Given the description of an element on the screen output the (x, y) to click on. 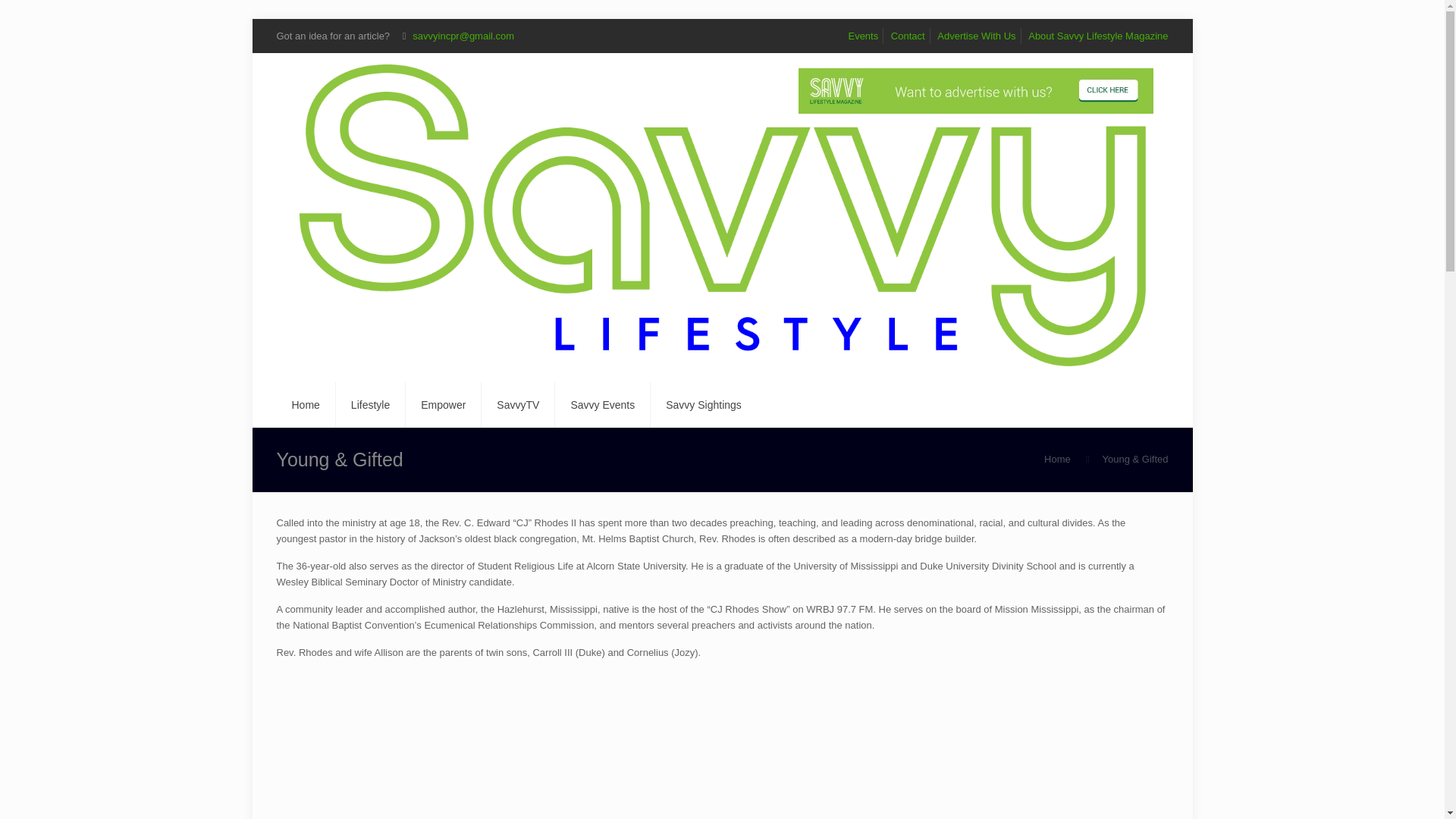
Lifestyle (371, 404)
SavvyTV (517, 404)
Advertise With Us (975, 35)
Savvy Events (602, 404)
Home (305, 404)
Events (862, 35)
Home (1056, 459)
About Savvy Lifestyle Magazine (1097, 35)
Savvy Sightings (703, 404)
Empower (443, 404)
Contact (907, 35)
